Given the description of an element on the screen output the (x, y) to click on. 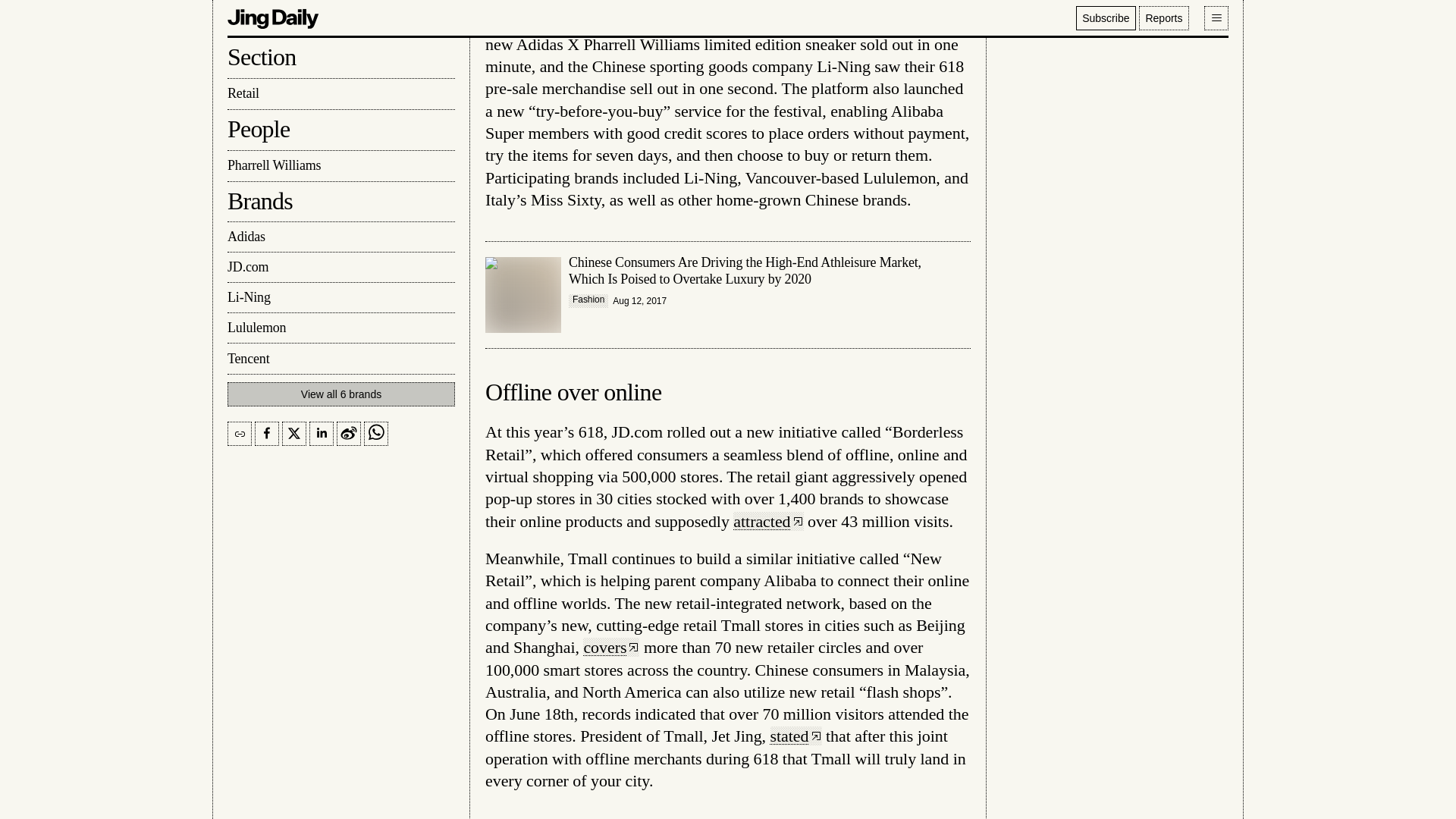
attracted (768, 520)
stated (796, 735)
Offline over online (573, 391)
covers (611, 647)
